Given the description of an element on the screen output the (x, y) to click on. 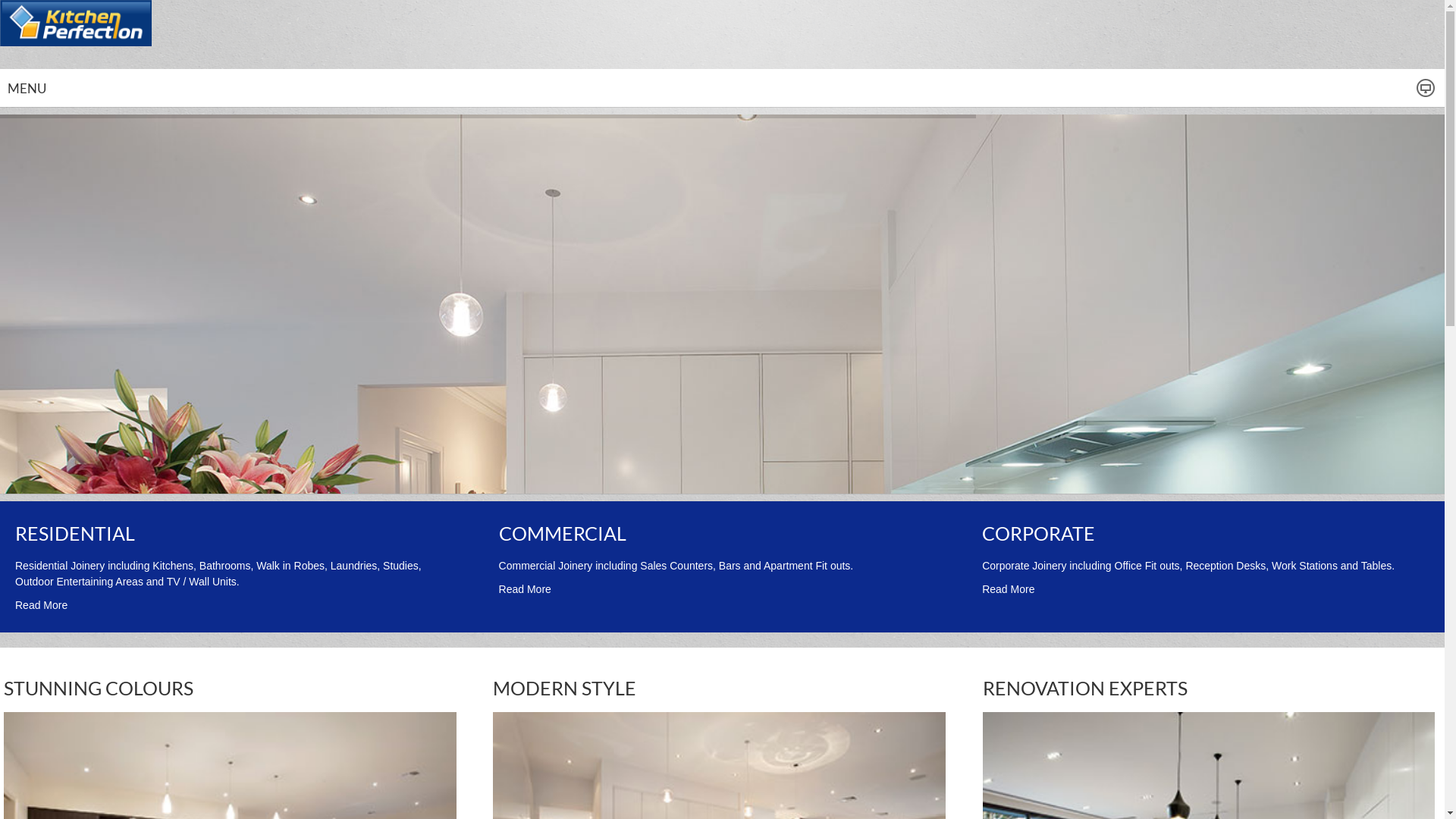
Read More Element type: text (1008, 589)
Read More Element type: text (41, 605)
Read More Element type: text (524, 589)
